Given the description of an element on the screen output the (x, y) to click on. 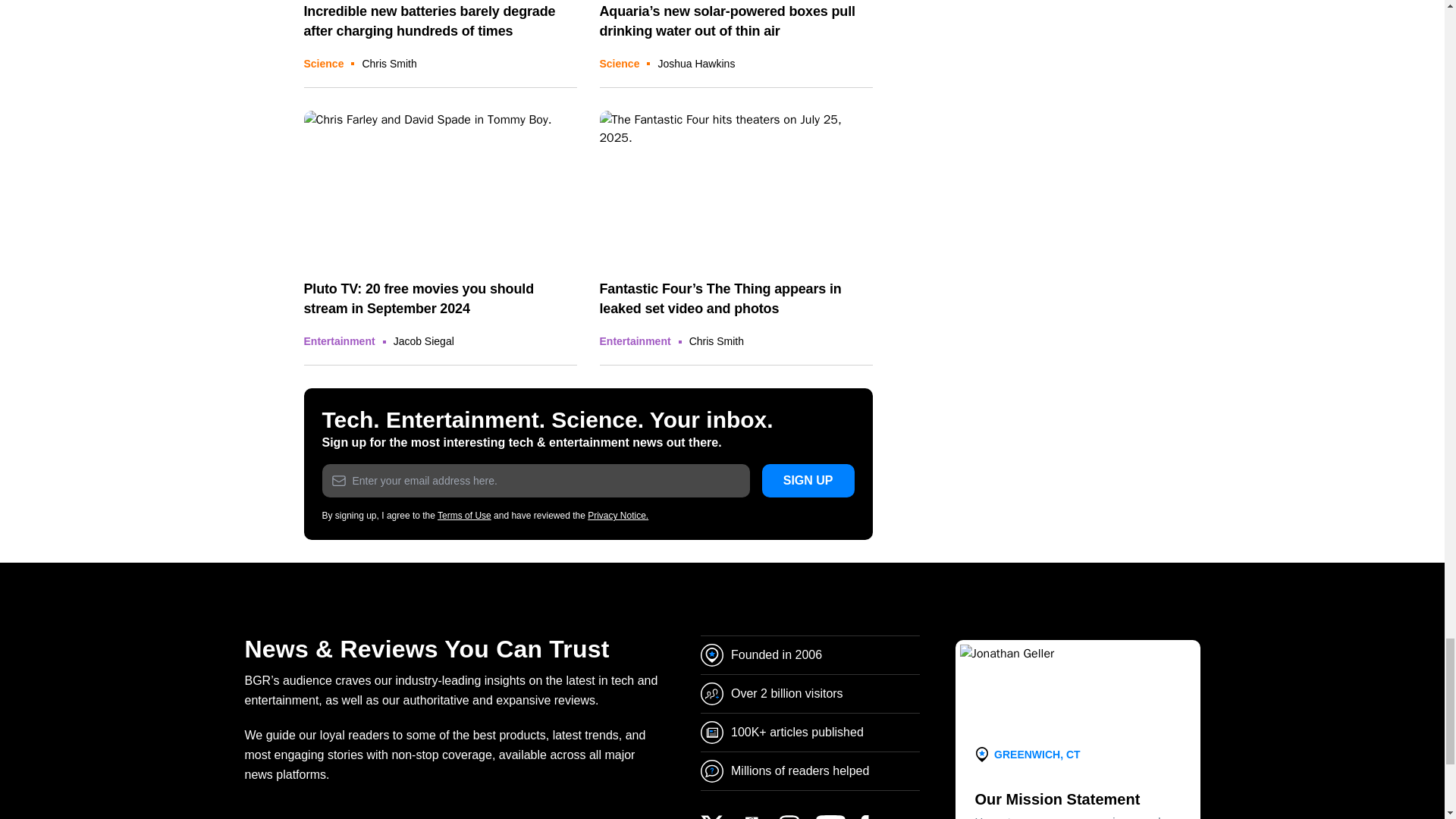
Posts by Jacob Siegal (423, 340)
Pluto TV (439, 187)
Posts by Chris Smith (388, 63)
Posts by Joshua Hawkins (696, 63)
Posts by Chris Smith (716, 340)
Fantastic Four (735, 187)
